Given the description of an element on the screen output the (x, y) to click on. 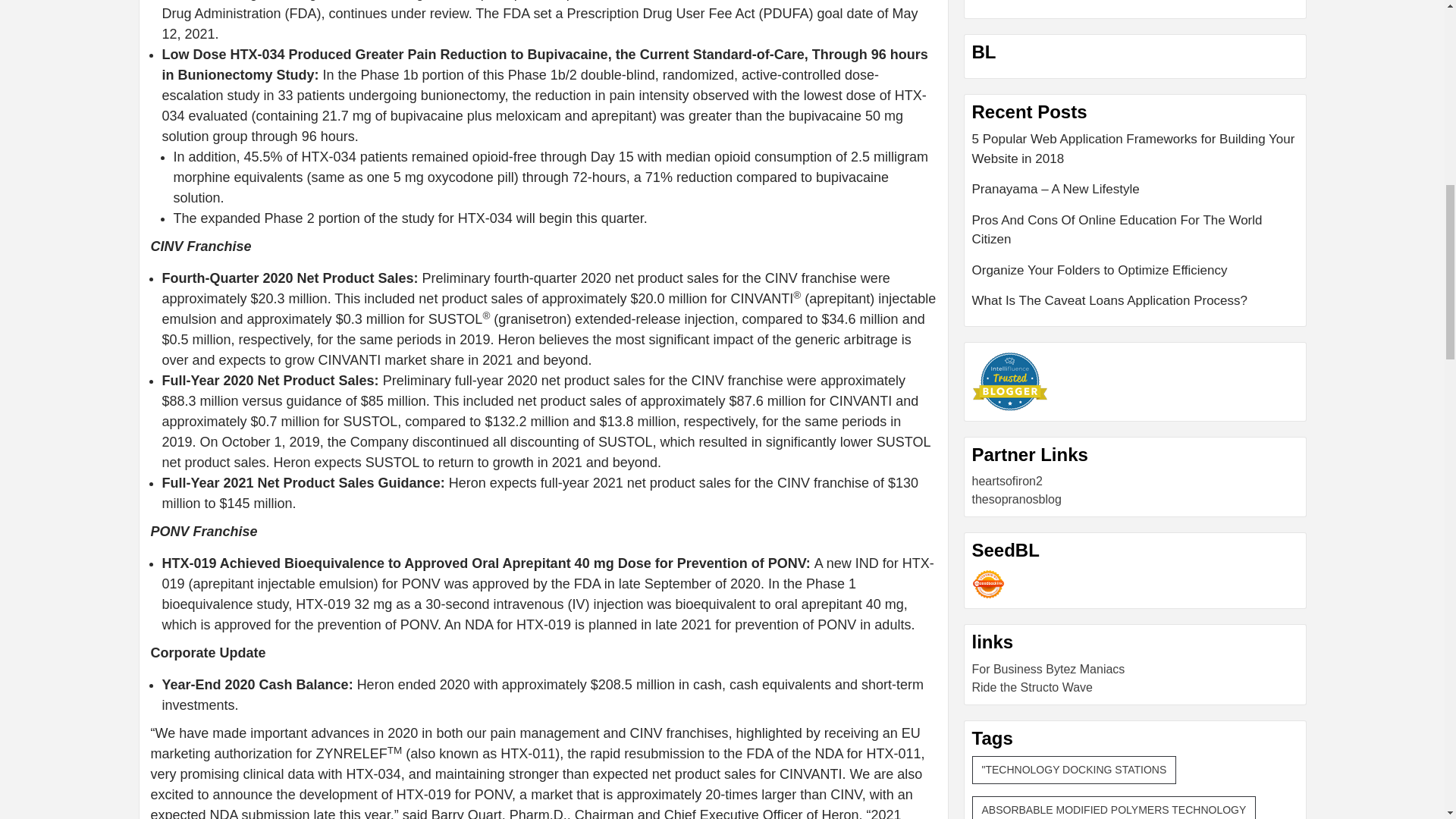
Seedbacklink (988, 584)
